Given the description of an element on the screen output the (x, y) to click on. 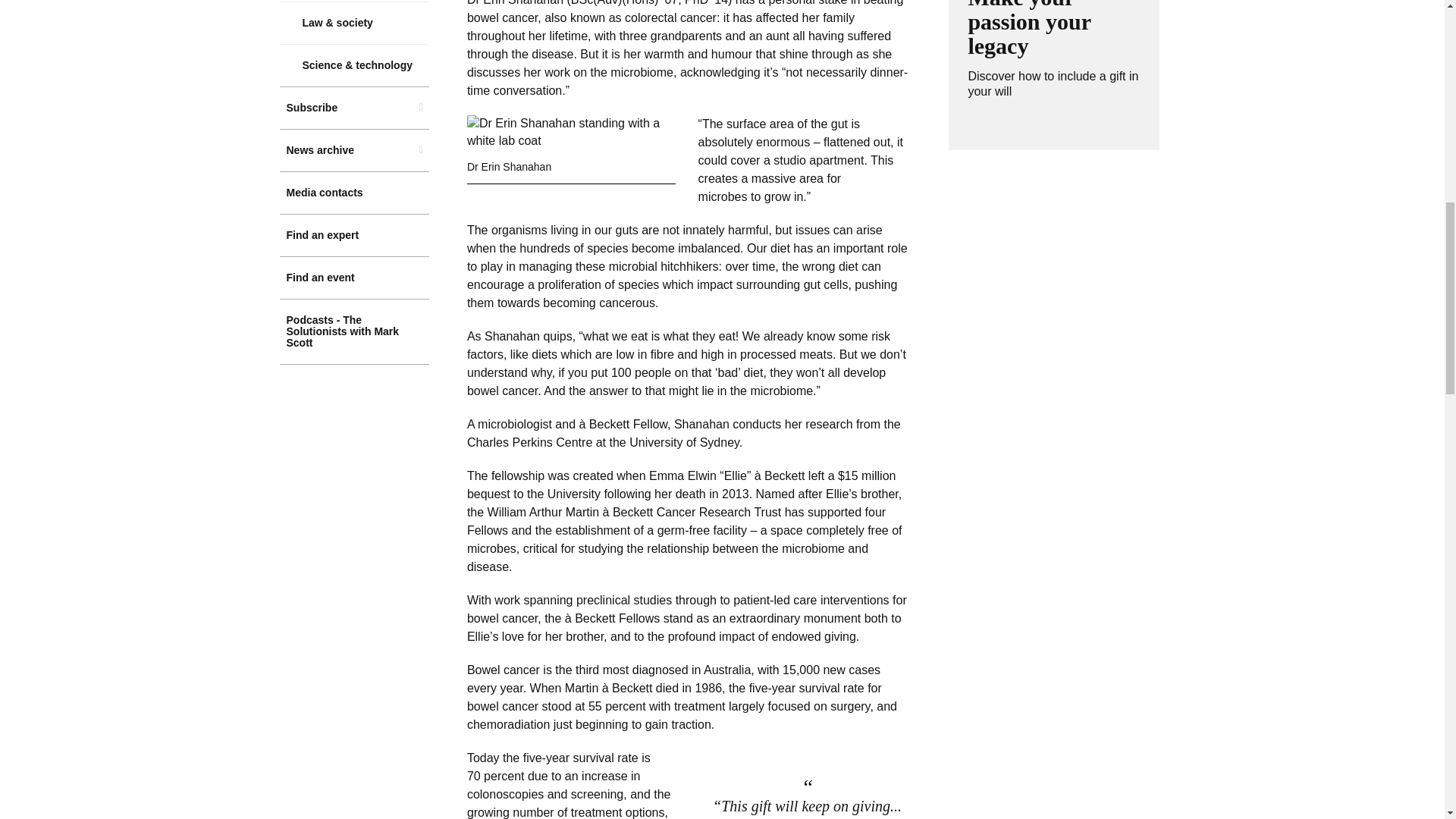
Find an event (354, 277)
News archive (354, 150)
Subscribe (354, 107)
Podcasts - The Solutionists with Mark Scott (354, 331)
Find an expert (354, 235)
Media contacts (354, 192)
